Given the description of an element on the screen output the (x, y) to click on. 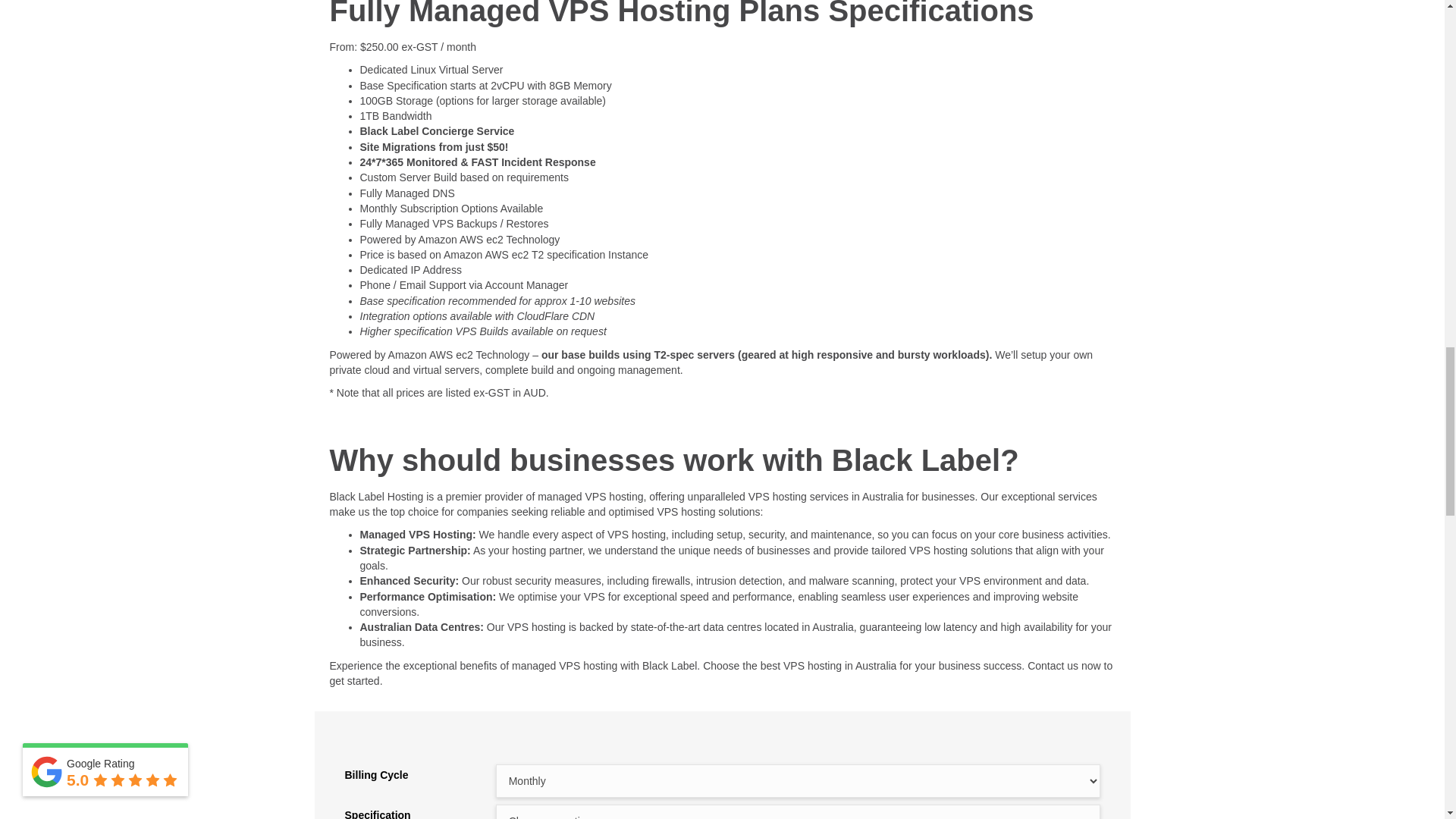
Contact us (1052, 665)
